Given the description of an element on the screen output the (x, y) to click on. 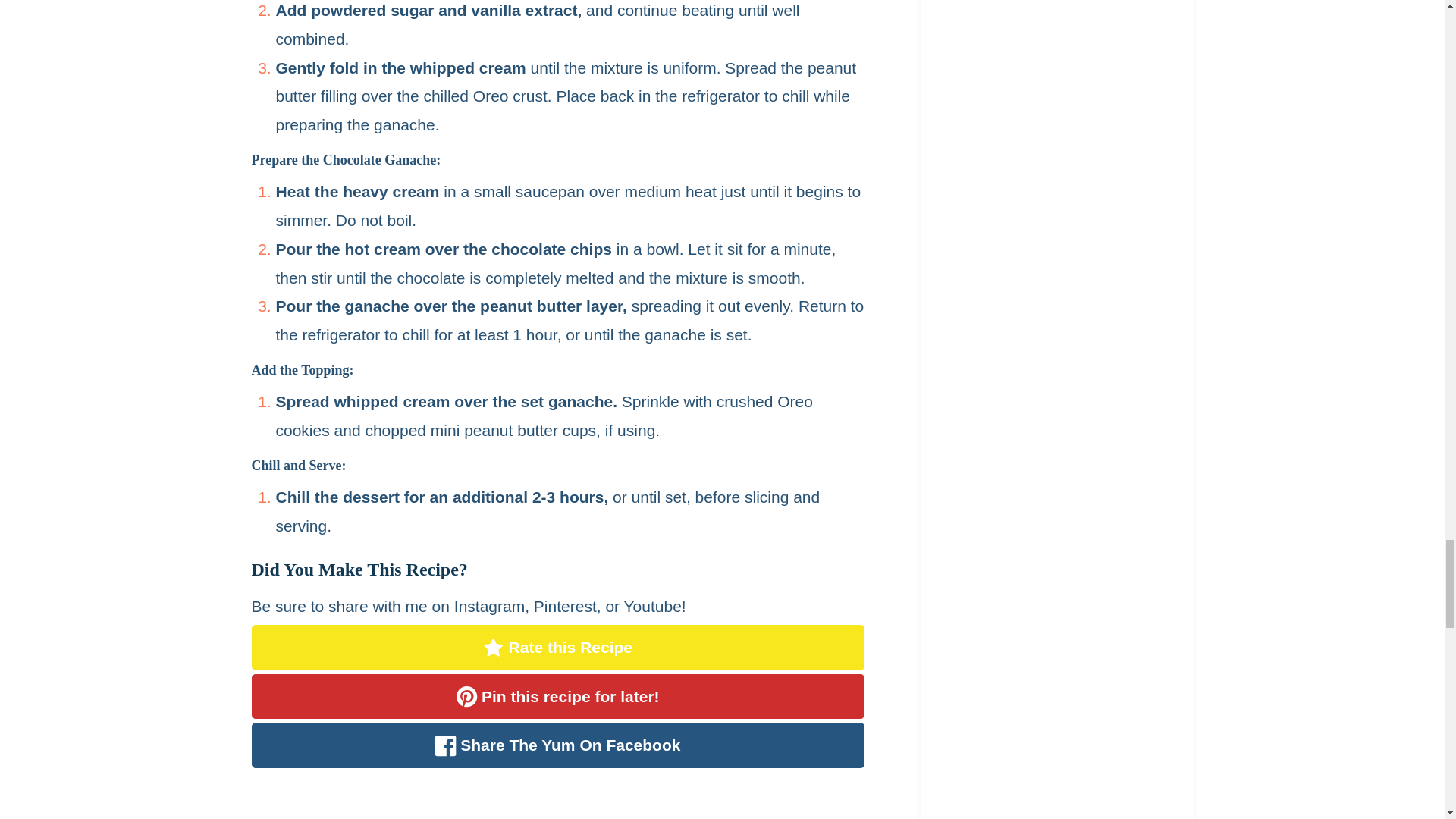
Rate this Recipe (710, 815)
Share The Yum On Facebook (557, 647)
Pin this recipe for later! (557, 745)
